Given the description of an element on the screen output the (x, y) to click on. 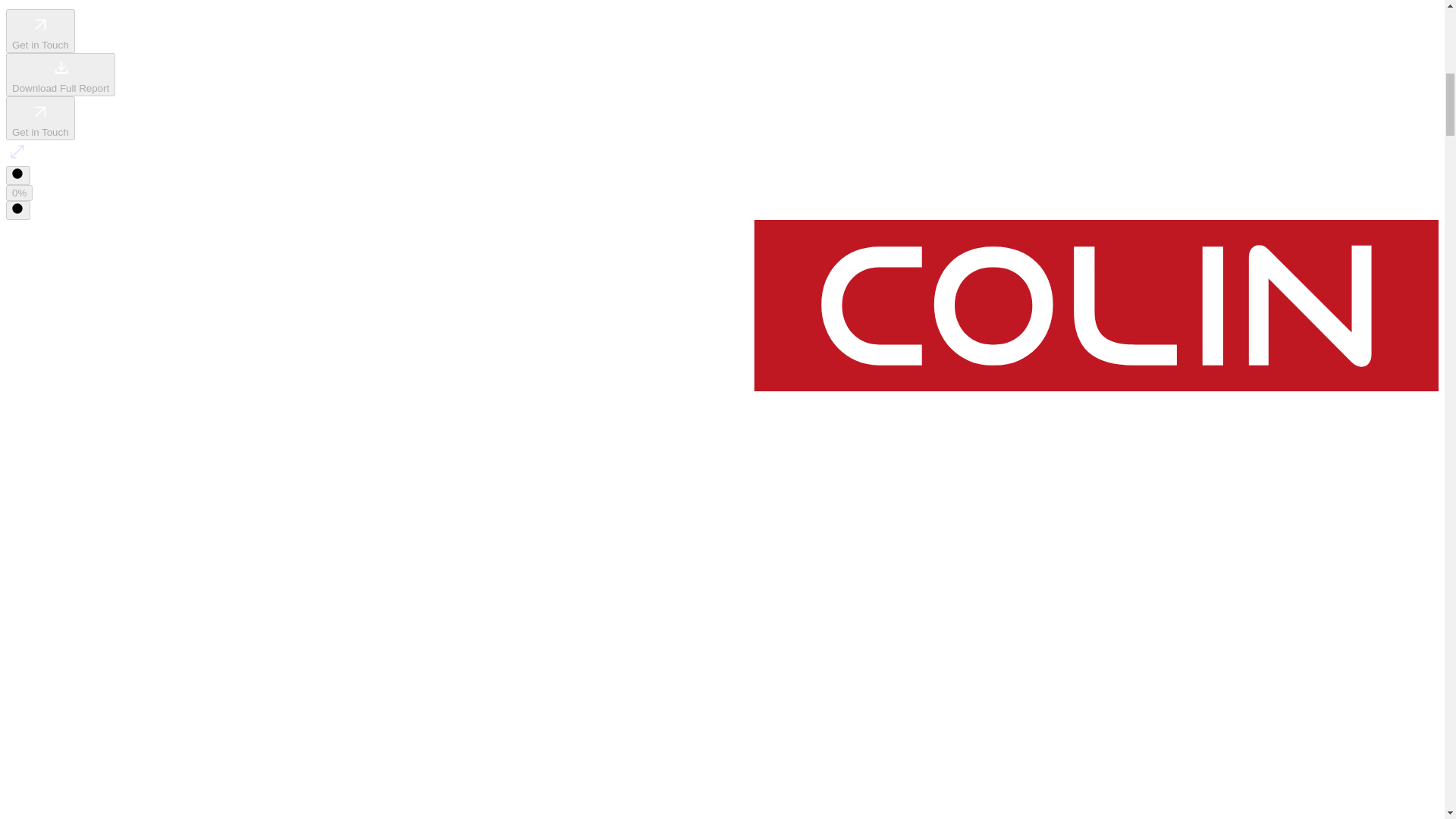
Get in Touch (40, 118)
Get in Touch (40, 31)
Download Full Report (60, 74)
